Given the description of an element on the screen output the (x, y) to click on. 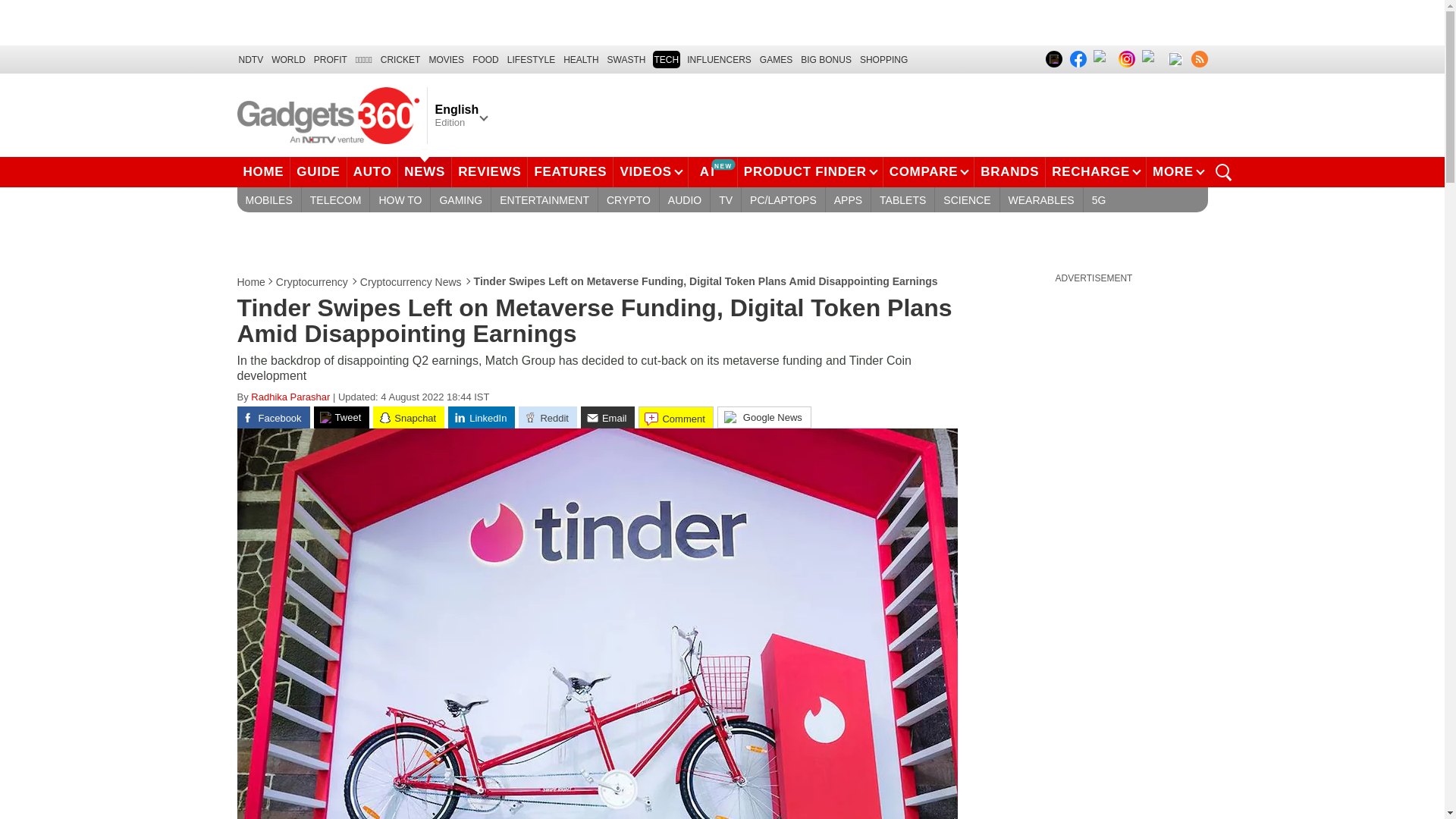
SWASTH (626, 58)
SHOPPING (883, 58)
GAMES (775, 58)
HOME (262, 172)
RSS (1199, 58)
FOOD (485, 58)
MOVIES (445, 58)
TECH (665, 58)
Cricket (400, 58)
AUTO (372, 172)
